Given the description of an element on the screen output the (x, y) to click on. 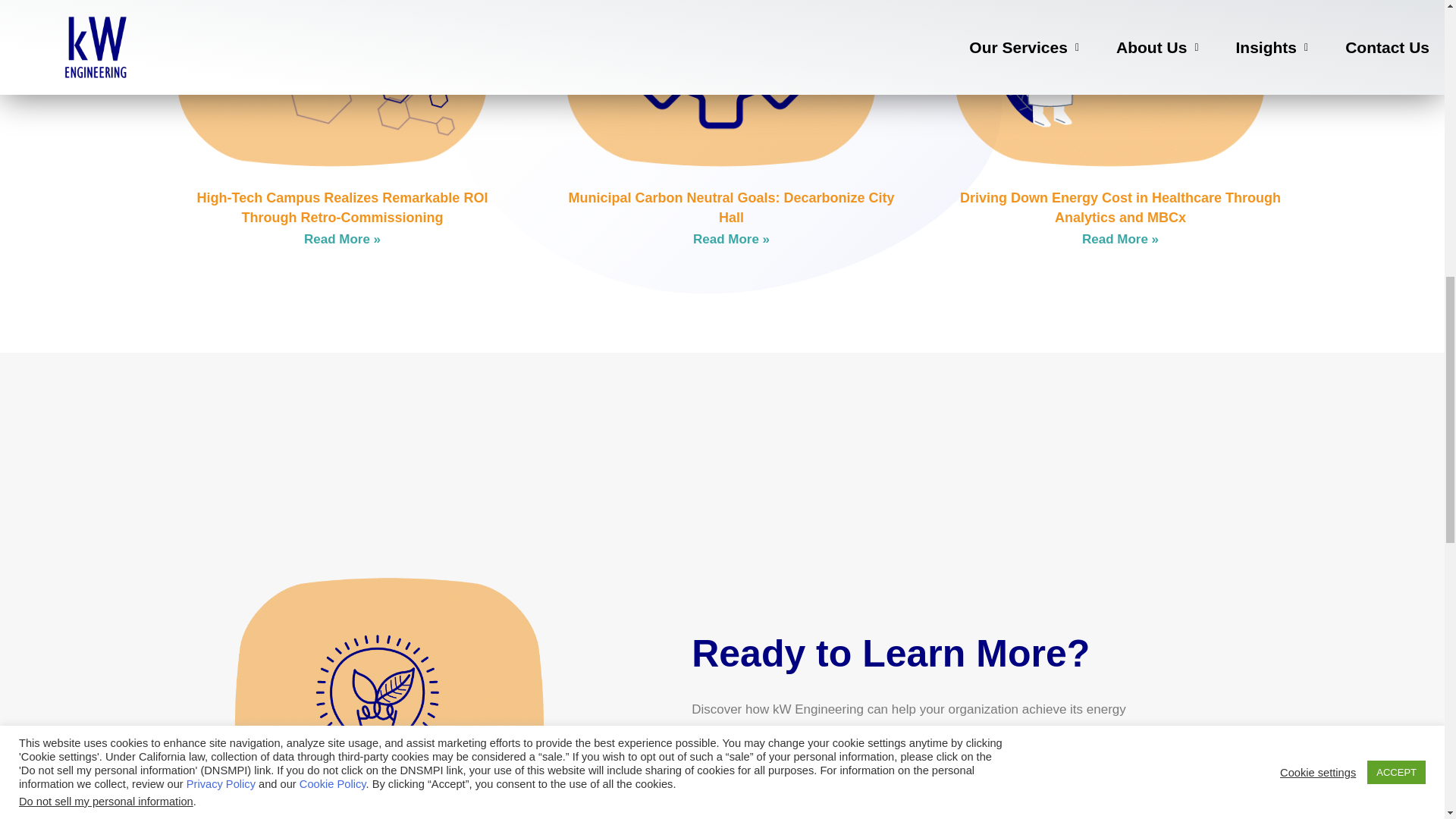
Municipal Carbon Neutral Goals: Decarbonize City Hall (730, 207)
